Given the description of an element on the screen output the (x, y) to click on. 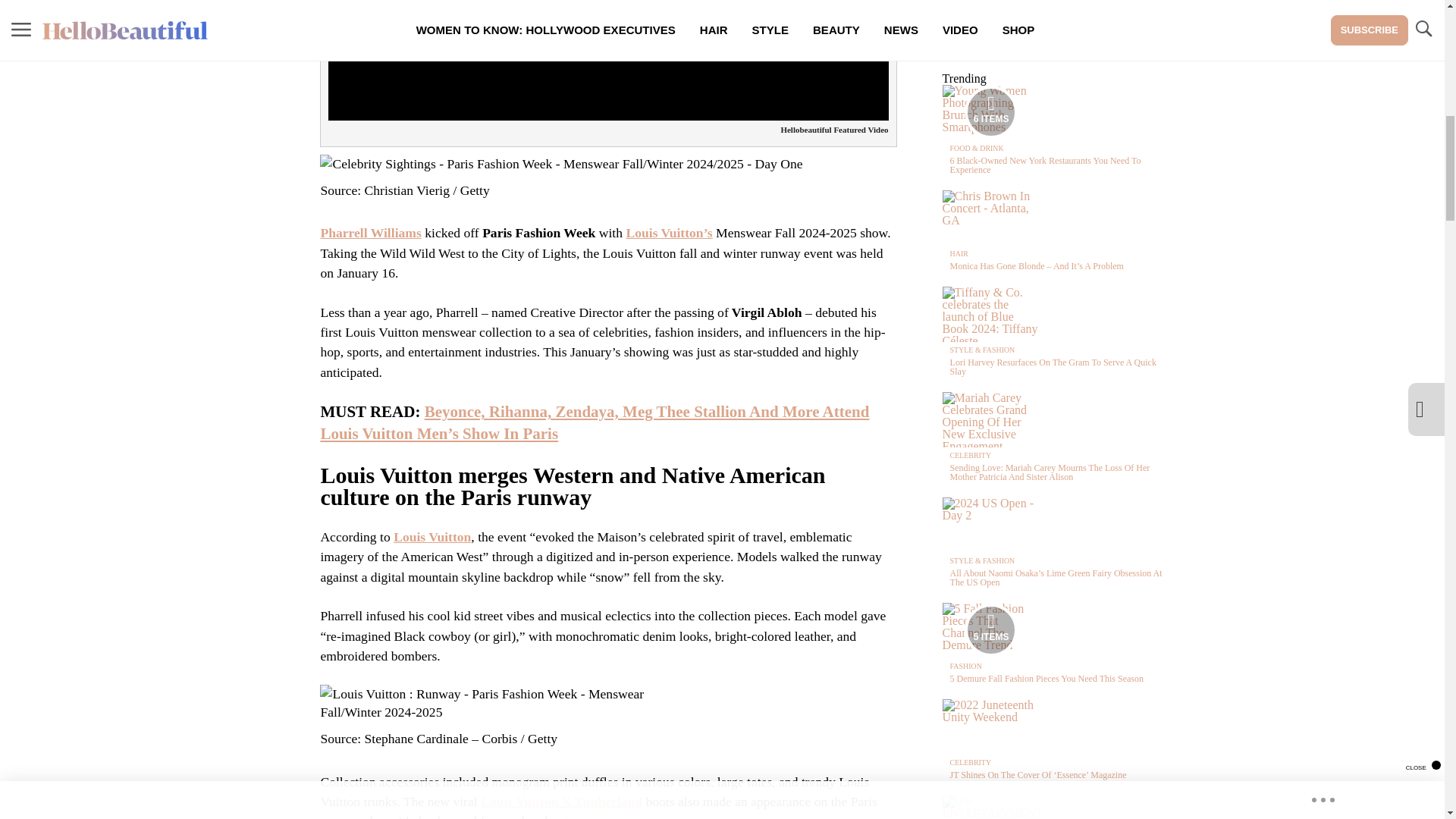
Louis Vuitton (431, 536)
Media Playlist (990, 629)
Louis Vuitton X Timberland (561, 801)
Media Playlist (990, 111)
Pharrell Williams (370, 232)
